Given the description of an element on the screen output the (x, y) to click on. 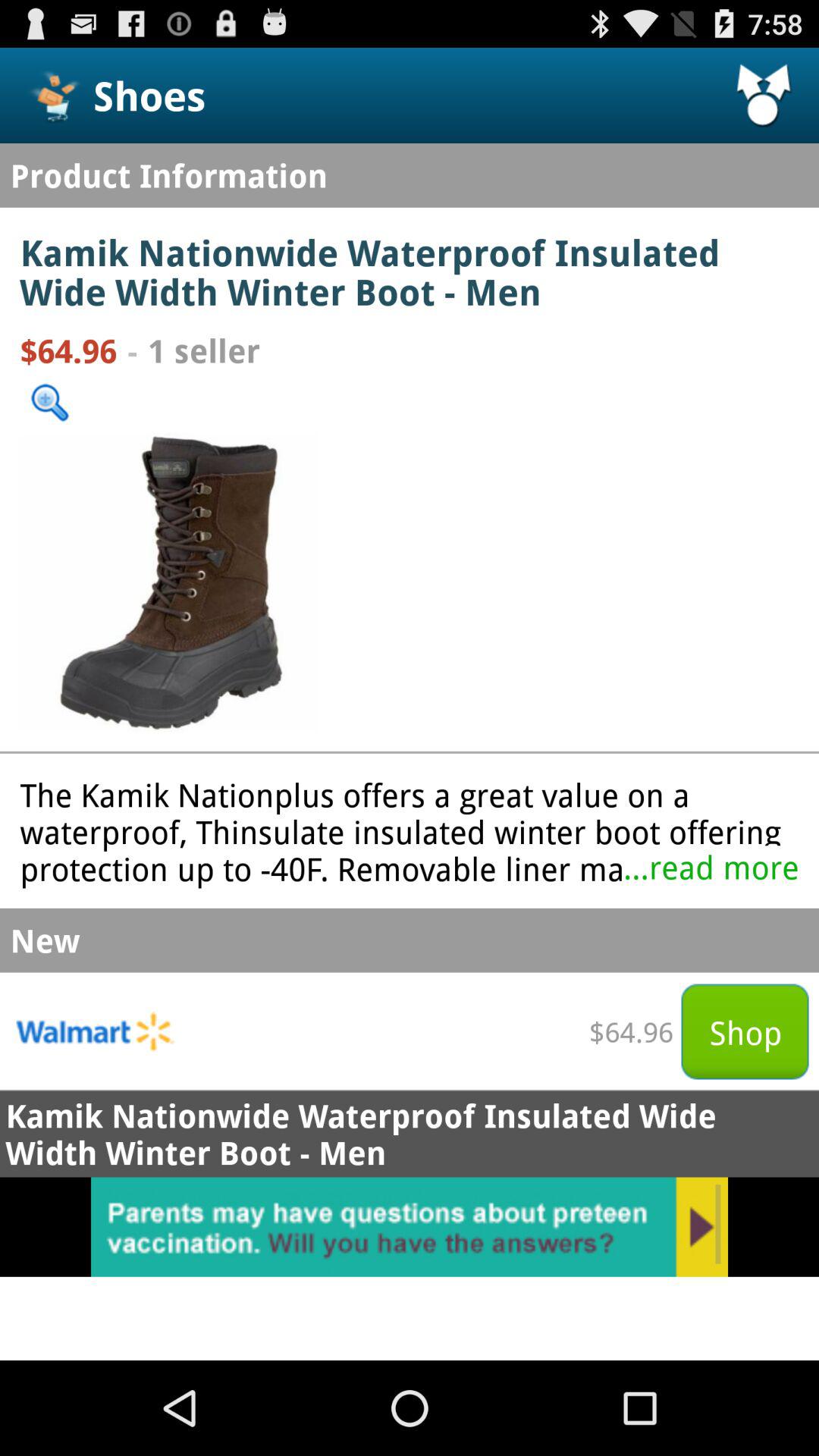
know about the advertisement (409, 1226)
